Given the description of an element on the screen output the (x, y) to click on. 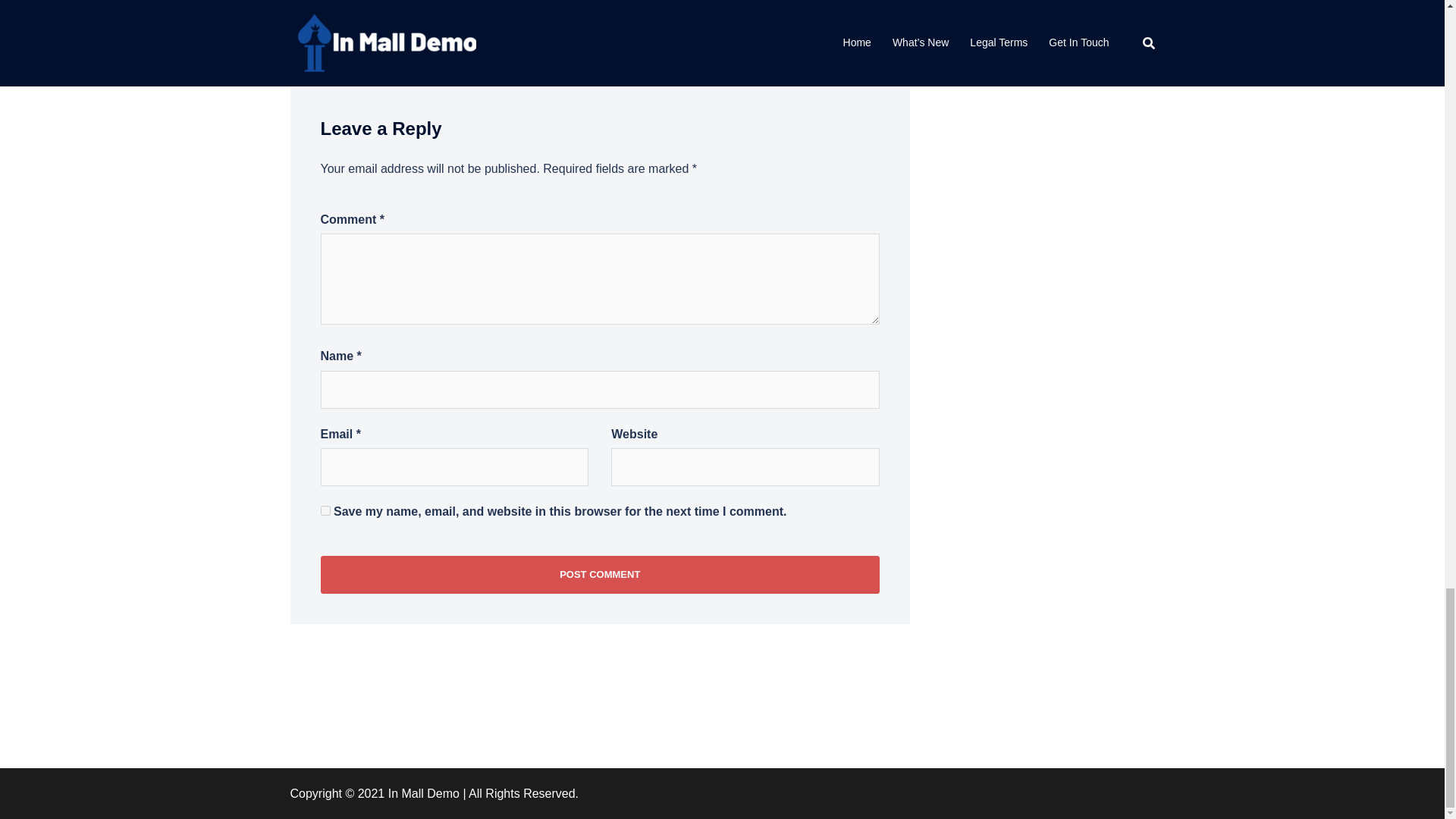
E Wallet Casino Free Credit No Deposit (432, 3)
Post Comment (599, 574)
yes (325, 510)
Free Credit Casino (824, 3)
Post Comment (599, 574)
